Given the description of an element on the screen output the (x, y) to click on. 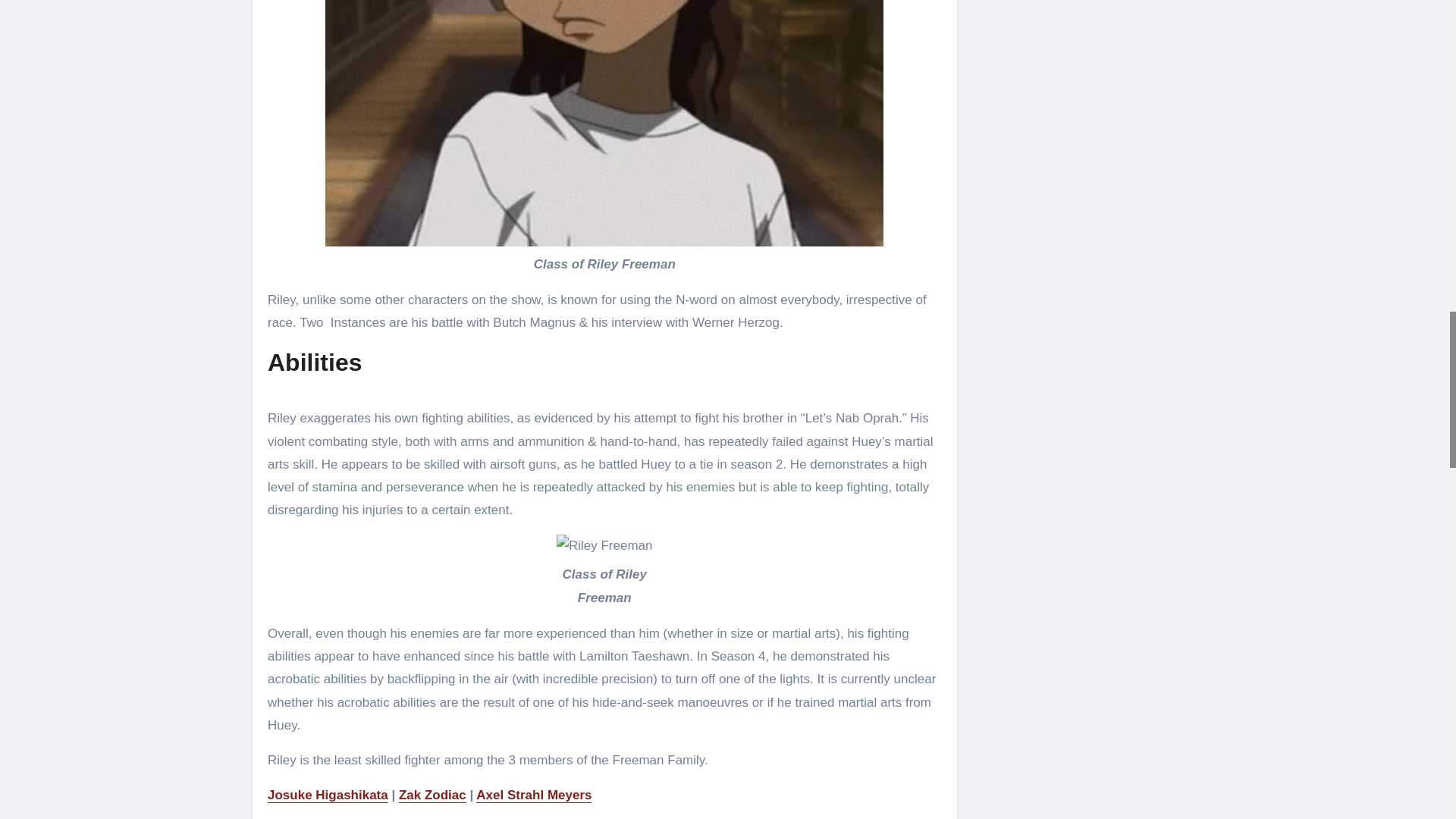
Axel Strahl Meyers (533, 794)
Zak Zodiac (431, 794)
Josuke Higashikata (327, 794)
